Given the description of an element on the screen output the (x, y) to click on. 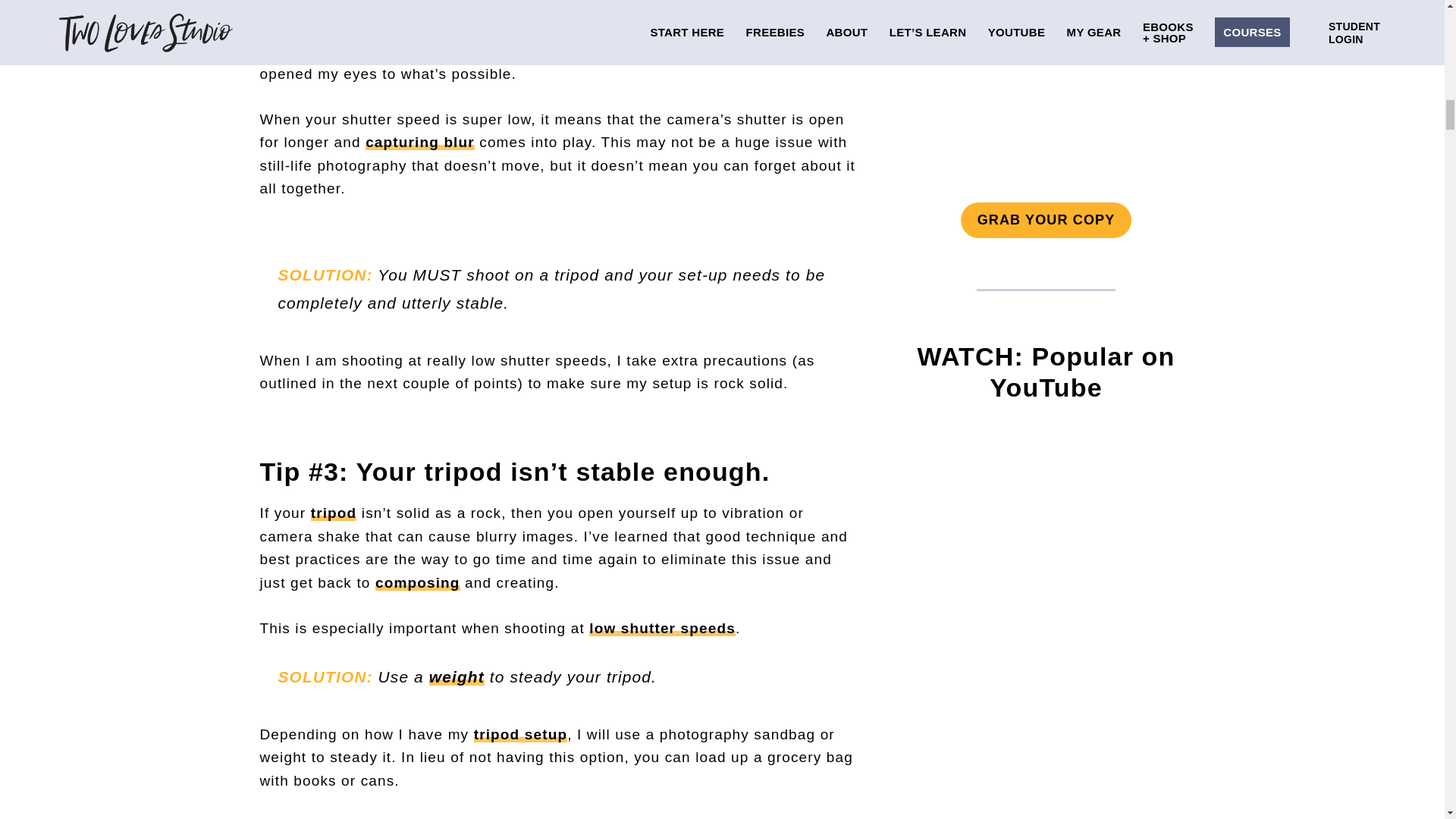
Two-Light Setup For Filled Hard Light Food Photography (1046, 526)
Having Focus Issues? 8 Quick Focus Tips for Tack Sharp Focus (1046, 736)
